Given the description of an element on the screen output the (x, y) to click on. 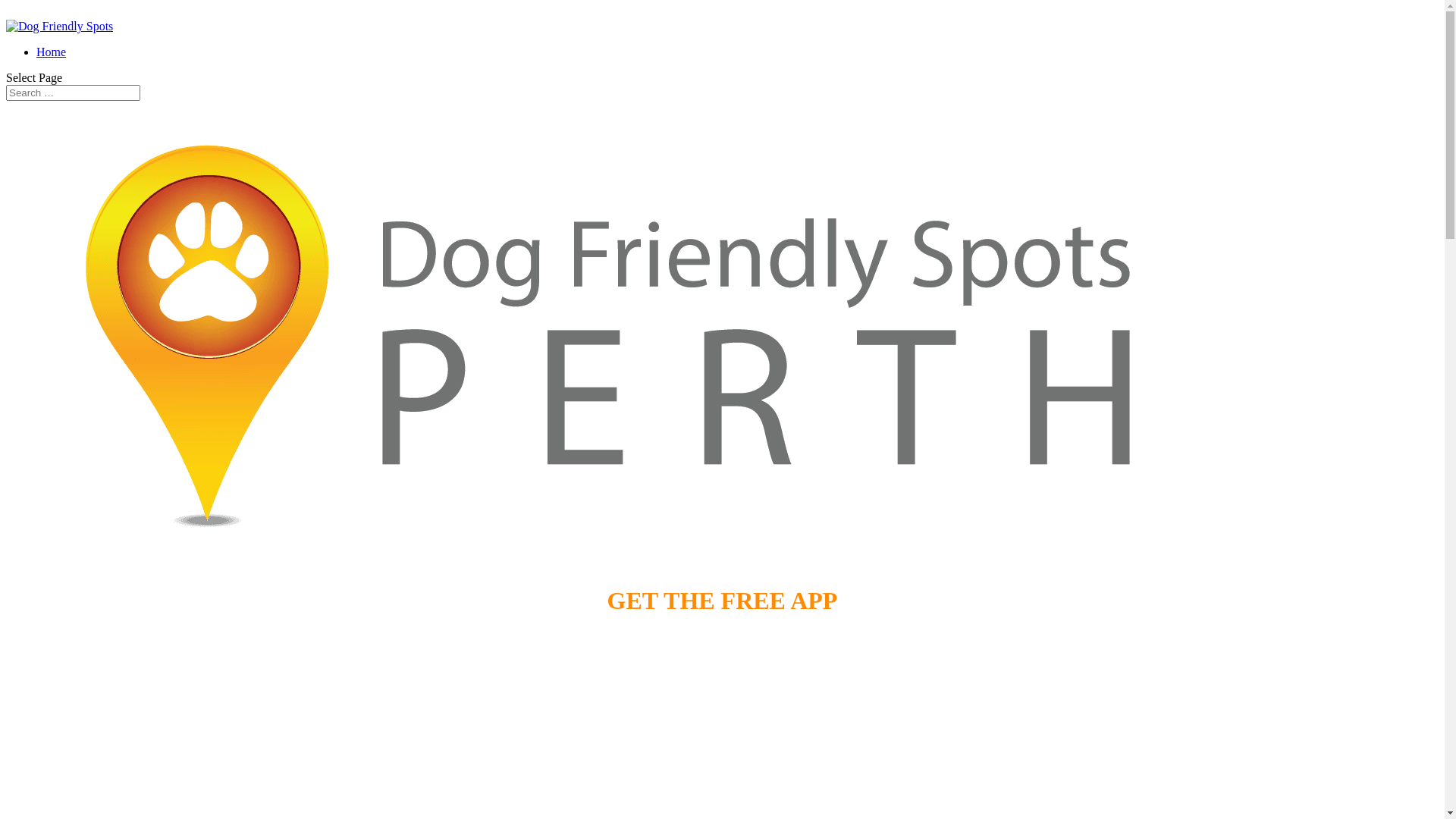
Home Element type: text (50, 51)
Search for: Element type: hover (73, 92)
